Given the description of an element on the screen output the (x, y) to click on. 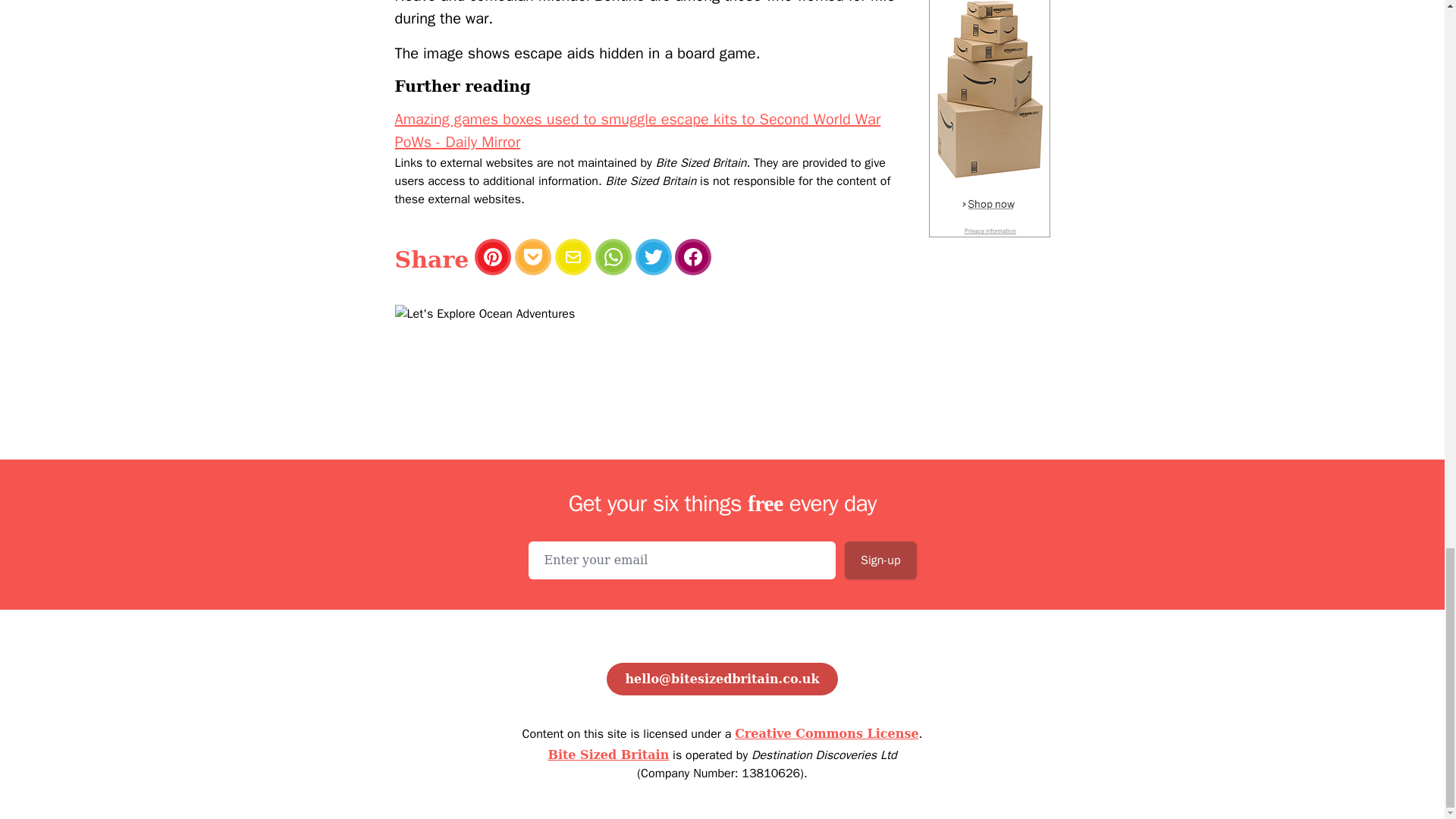
Pinterest (492, 257)
Bite Sized Britain (607, 754)
WhatsApp (613, 257)
Facebook (693, 257)
Email (572, 257)
Sign-up (879, 560)
Twitter (652, 257)
Creative Commons License (826, 733)
Pocket (533, 257)
